Given the description of an element on the screen output the (x, y) to click on. 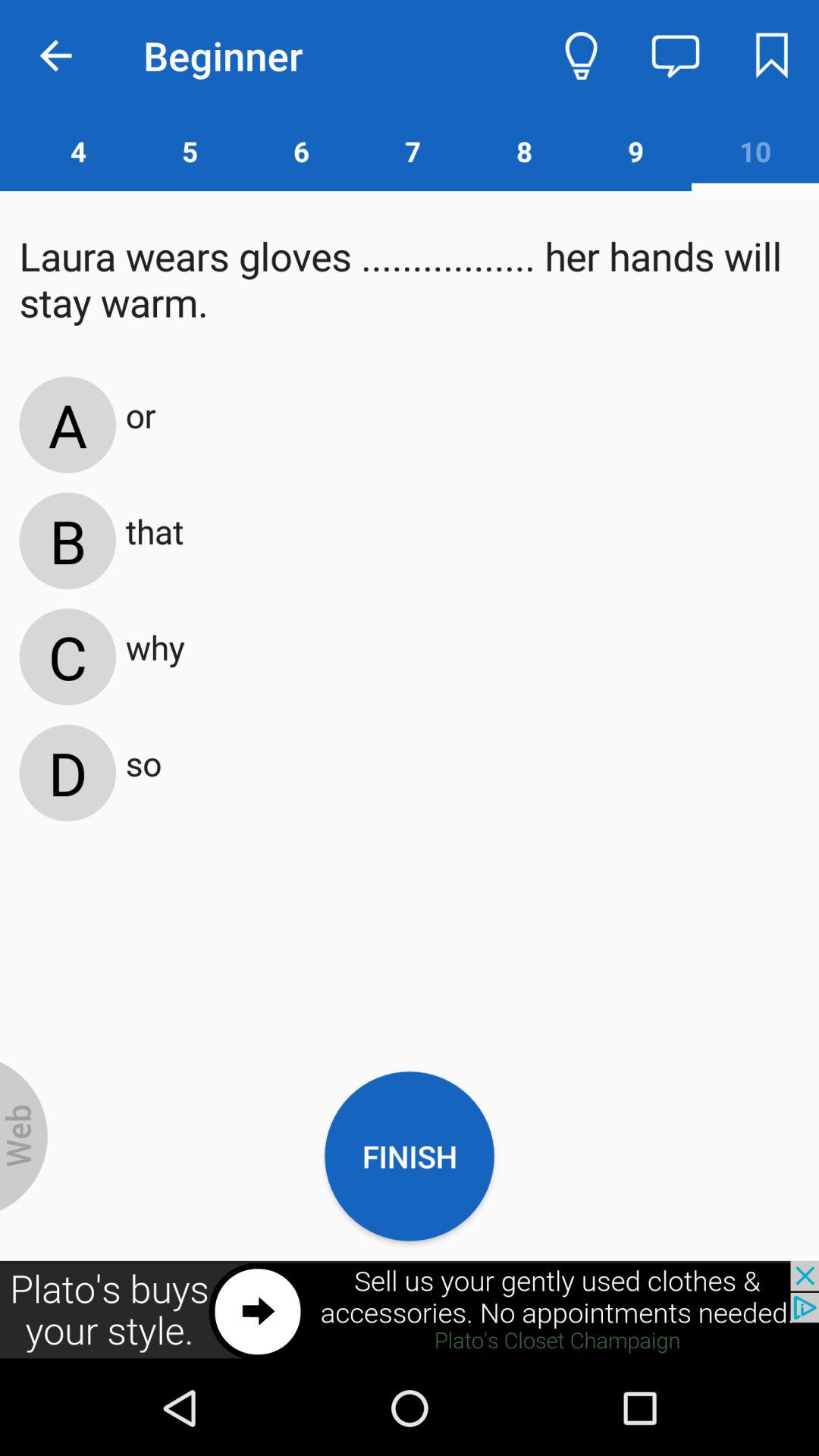
go to web (23, 1135)
